Given the description of an element on the screen output the (x, y) to click on. 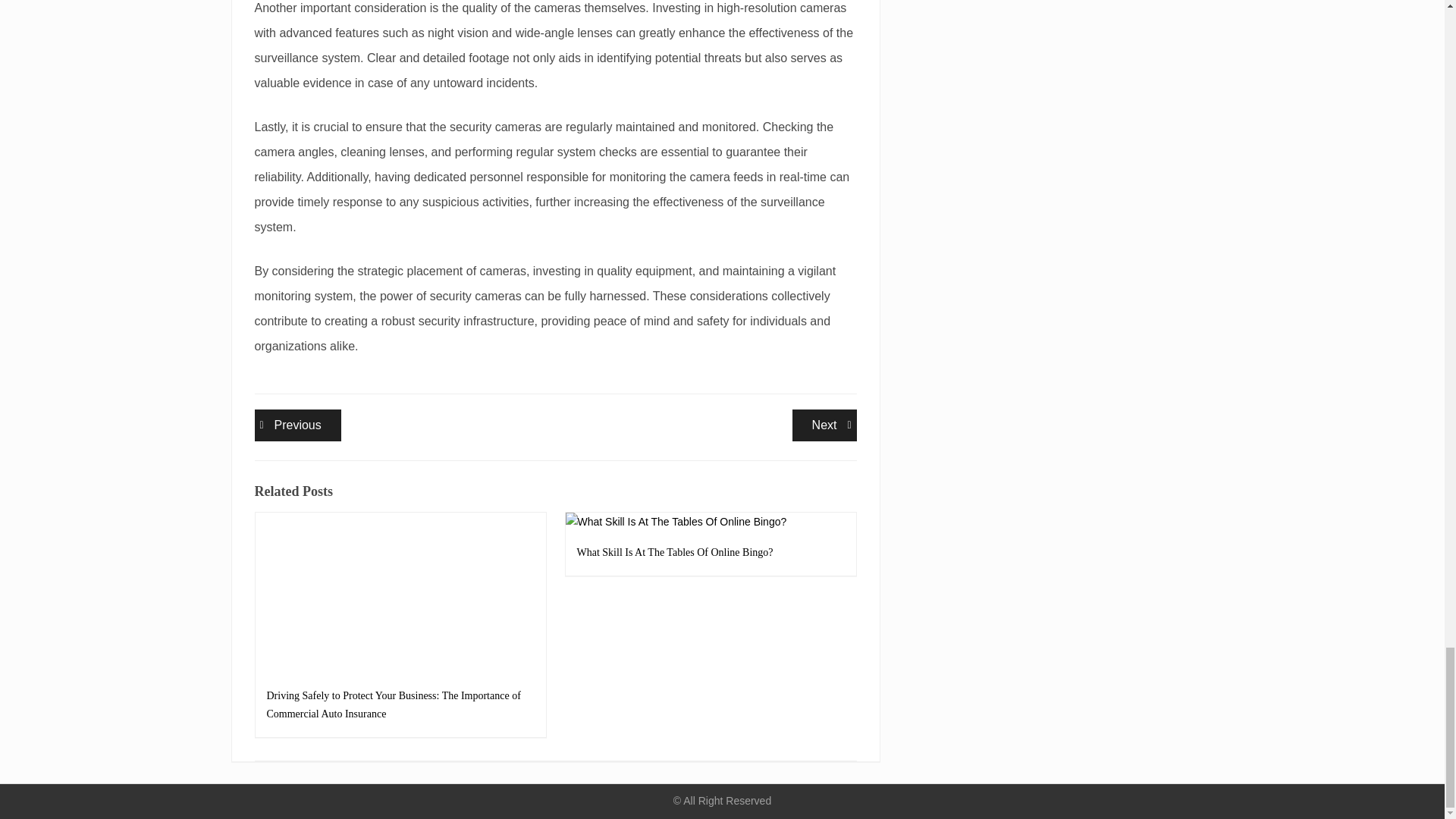
What Skill Is At The Tables Of Online Bingo? (824, 425)
